Given the description of an element on the screen output the (x, y) to click on. 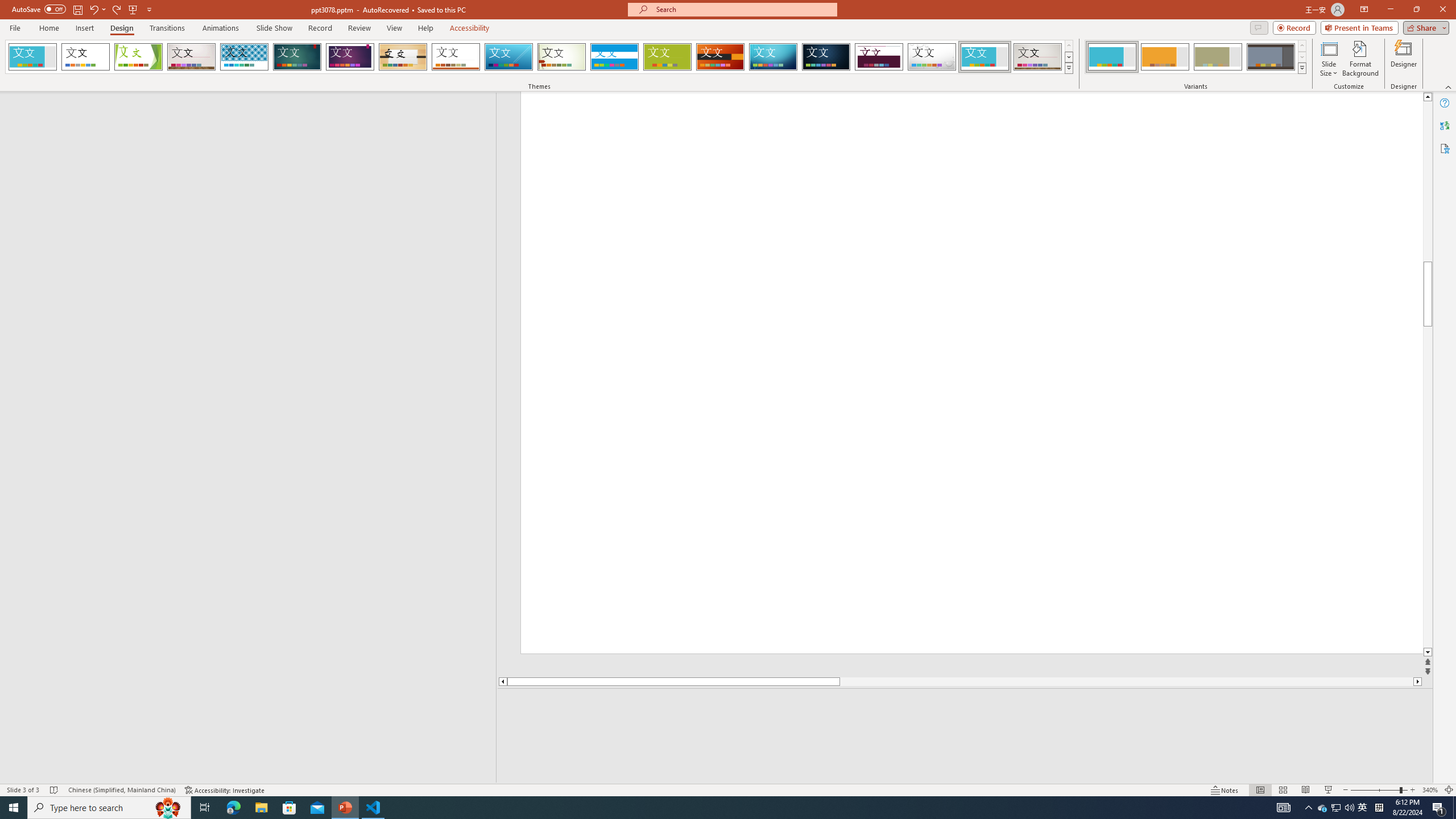
Integral (244, 56)
Variants (1301, 67)
Organic (403, 56)
Frame Variant 3 (1217, 56)
Wisp (561, 56)
TextBox 61 (1149, 231)
